Given the description of an element on the screen output the (x, y) to click on. 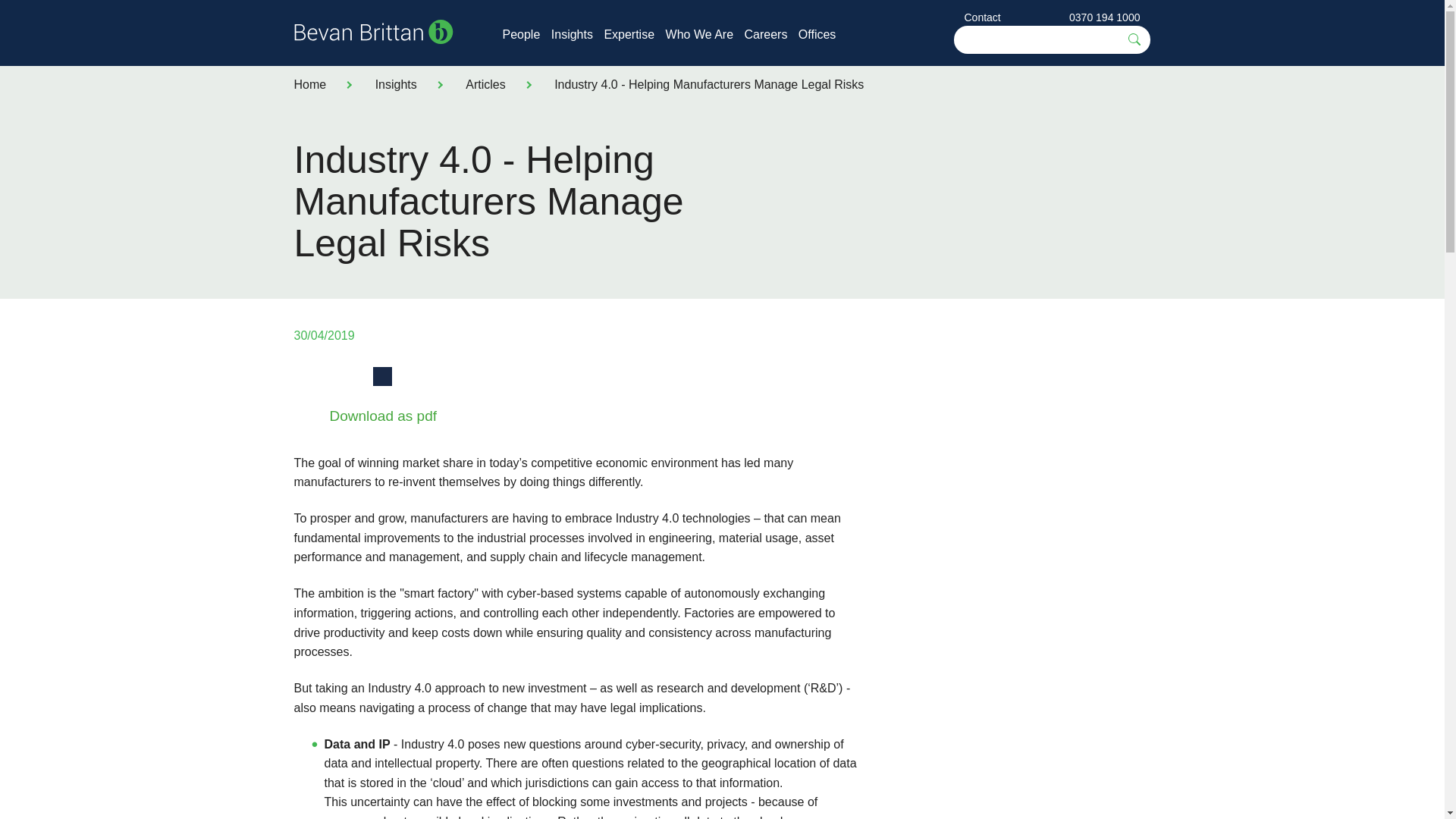
Email (419, 375)
Industry 4.0 - Helping Manufacturers Manage Legal Risks (708, 83)
Articles (485, 83)
Download as pdf (369, 427)
Insights (571, 33)
LinkedIn (381, 375)
Offices (816, 33)
Twitter (343, 375)
Insights (395, 83)
People (521, 33)
